Given the description of an element on the screen output the (x, y) to click on. 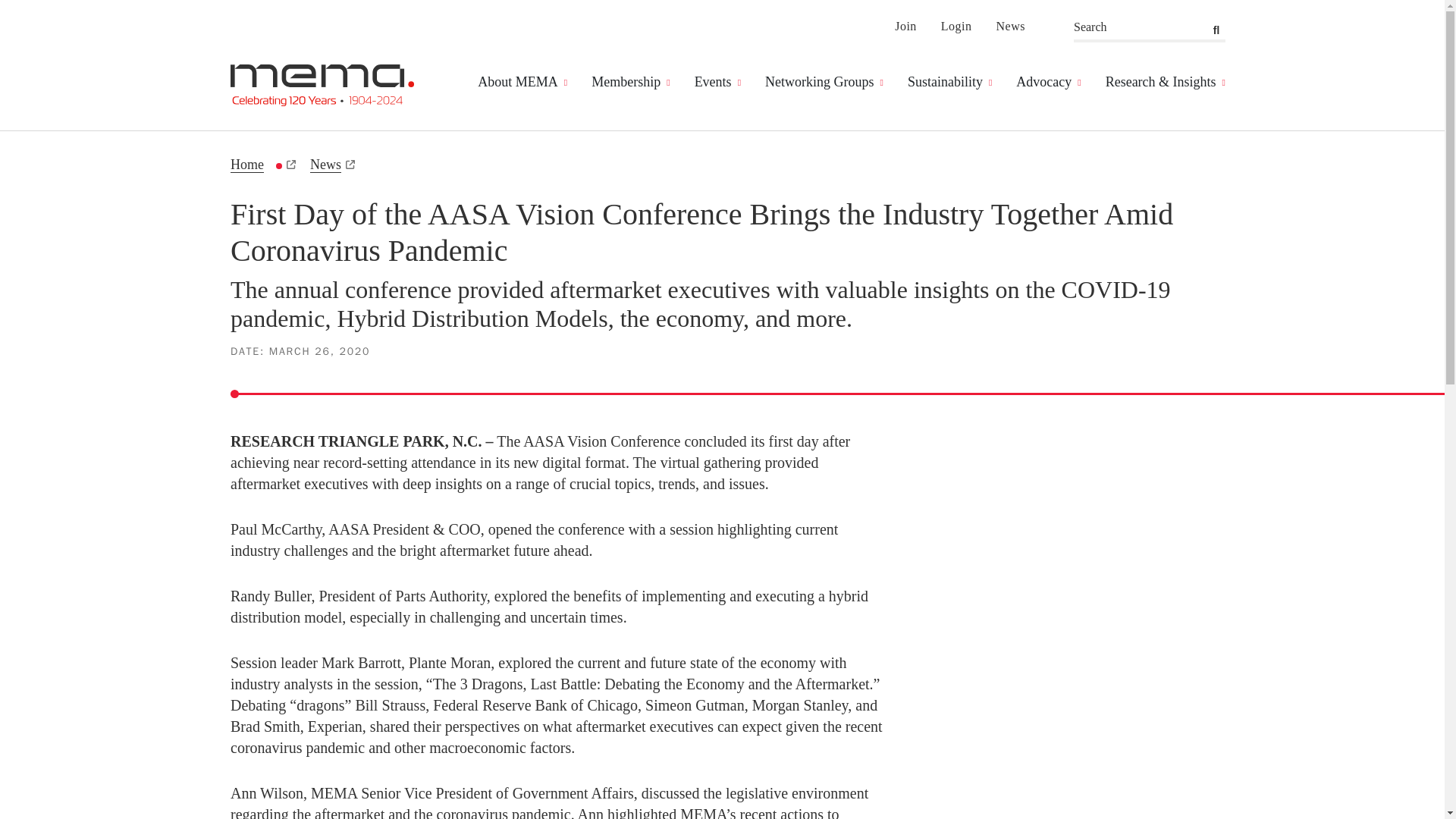
About MEMA (522, 81)
Membership (630, 81)
Networking Groups (824, 81)
Events (717, 81)
